Given the description of an element on the screen output the (x, y) to click on. 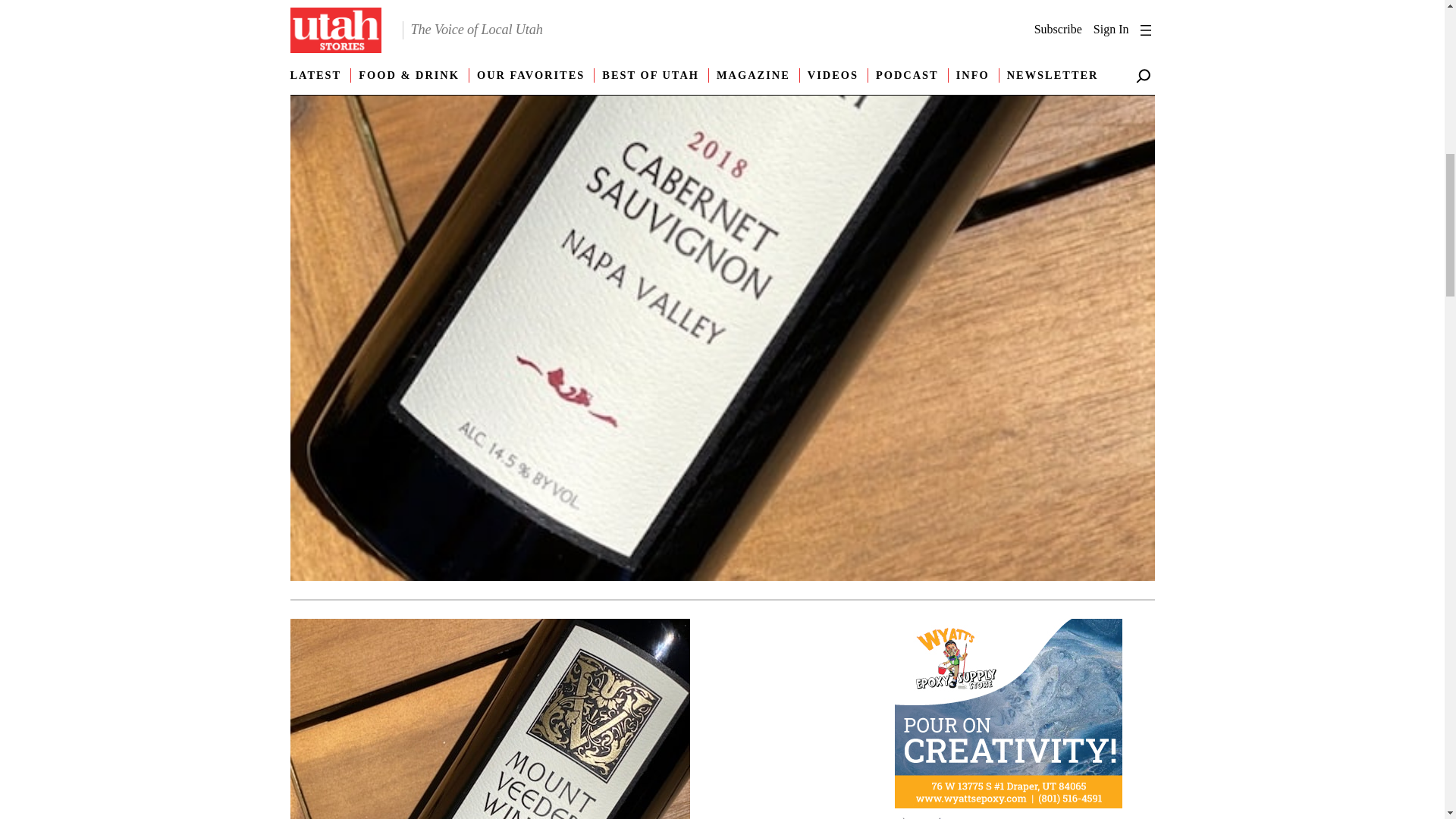
side ad (1008, 816)
sidbar (1008, 716)
